Given the description of an element on the screen output the (x, y) to click on. 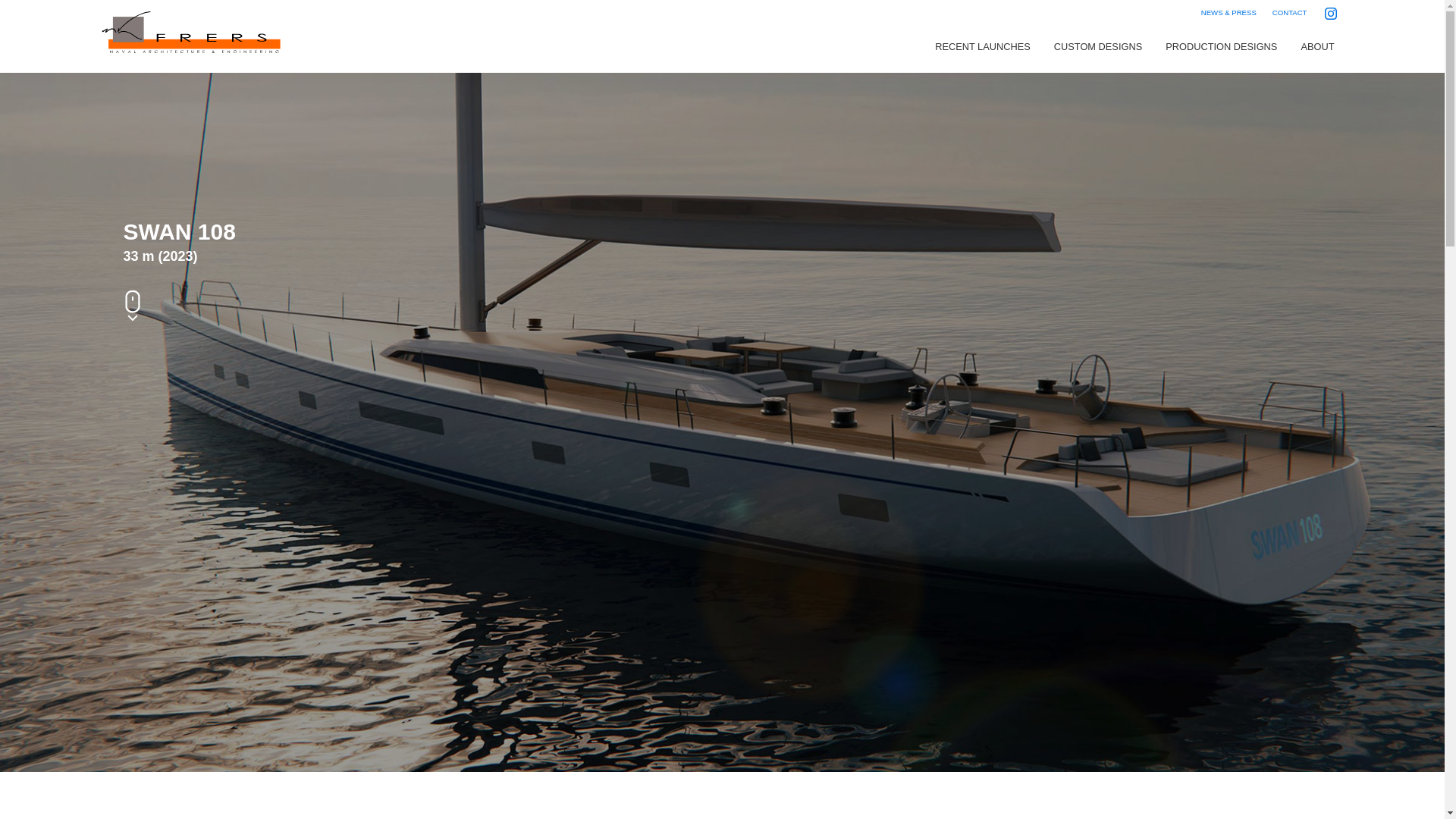
ABOUT (1316, 47)
CUSTOM DESIGNS (1097, 47)
CUSTOM DESIGNS (1097, 47)
PRODUCTION DESIGNS (1221, 47)
ABOUT (1316, 47)
RECENT LAUNCHES (982, 47)
PRODUCTION DESIGNS (1221, 47)
RECENT LAUNCHES (982, 47)
CONTACT (1289, 12)
